Given the description of an element on the screen output the (x, y) to click on. 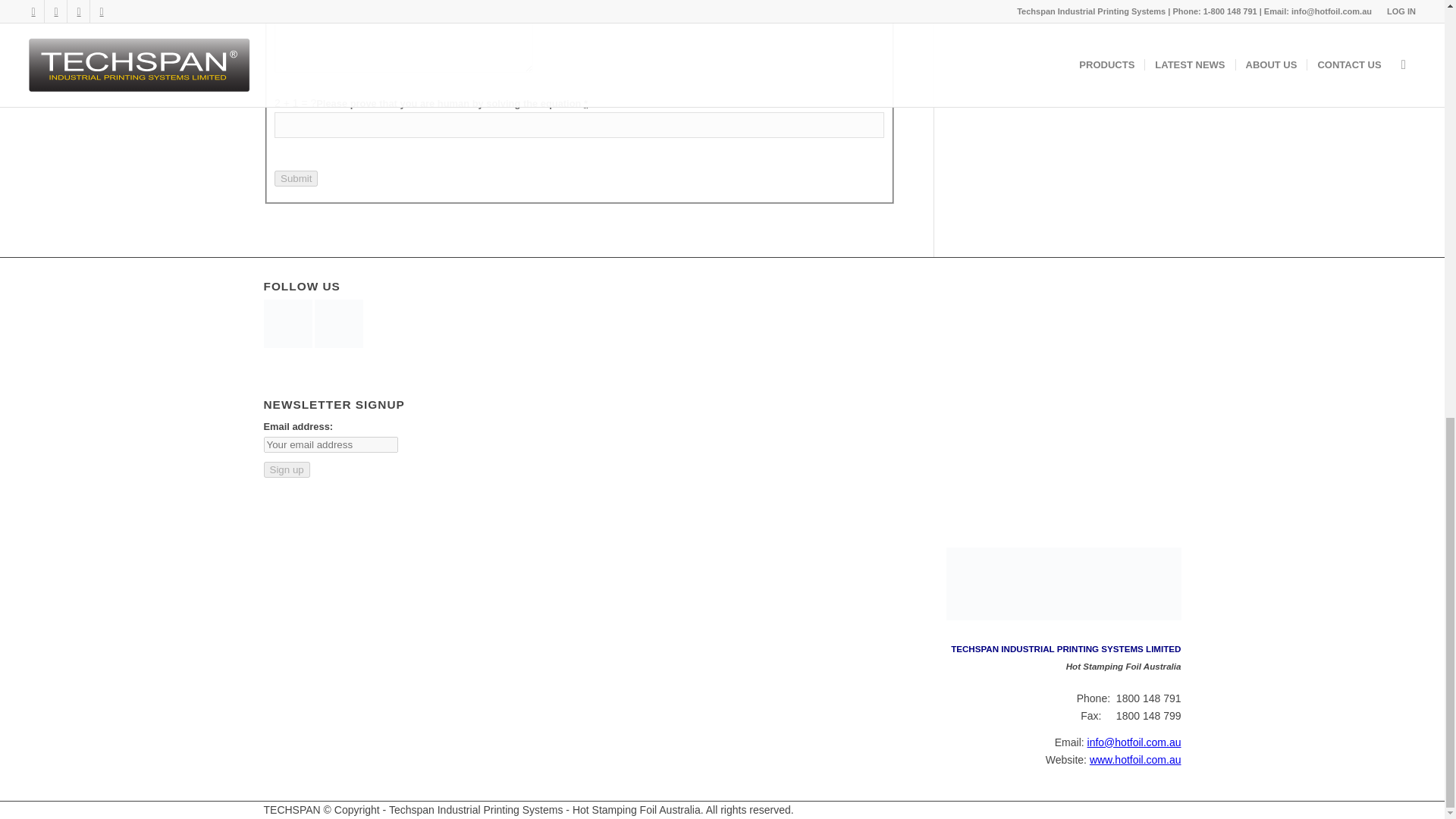
Submit (296, 178)
Sign up (286, 469)
Submit (296, 178)
TSC Label Printers Youtube Channel by Techspan (288, 344)
